Given the description of an element on the screen output the (x, y) to click on. 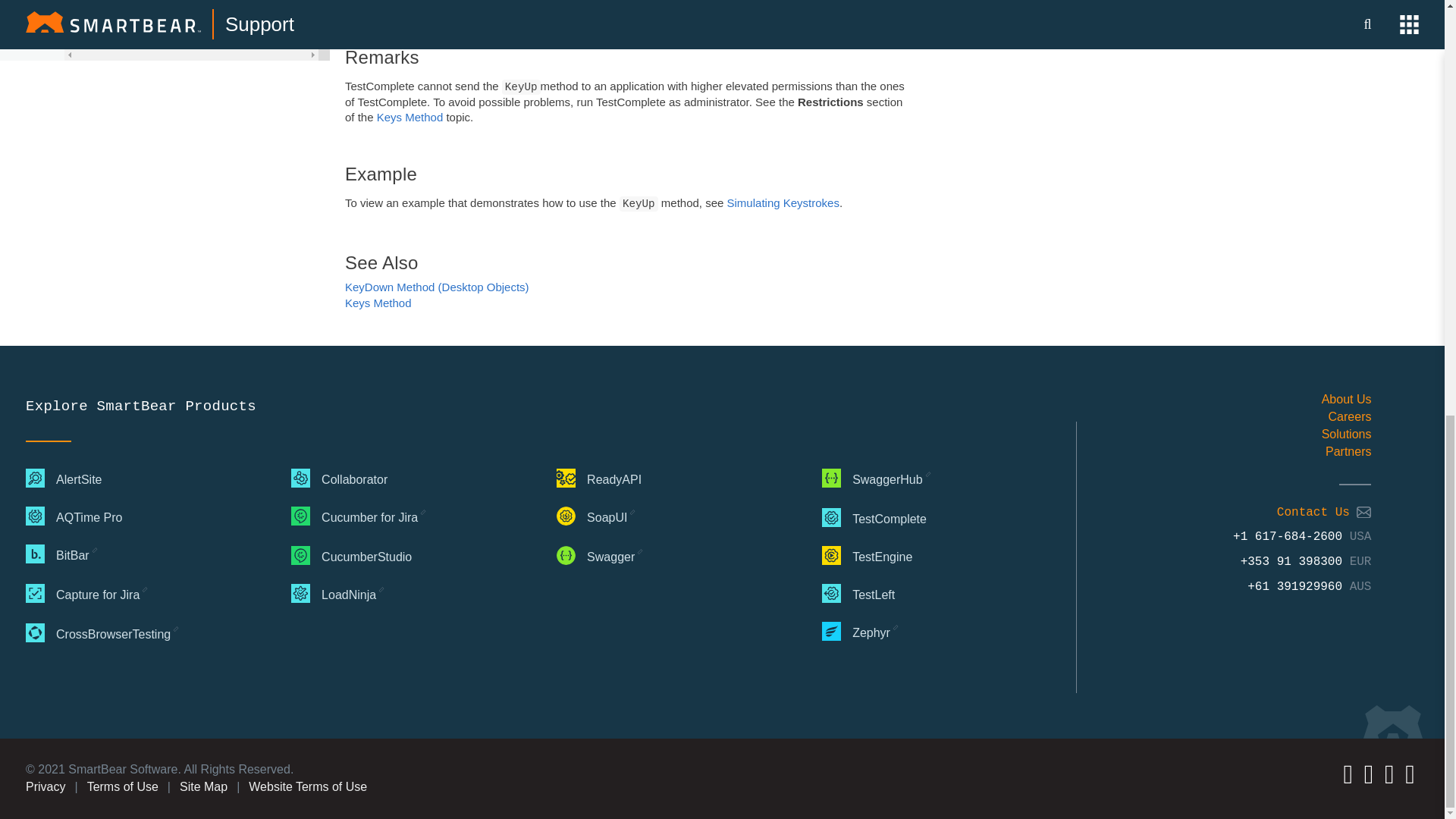
Simulating Keystrokes (783, 202)
Keys Method (378, 302)
Keys Method (410, 116)
